Given the description of an element on the screen output the (x, y) to click on. 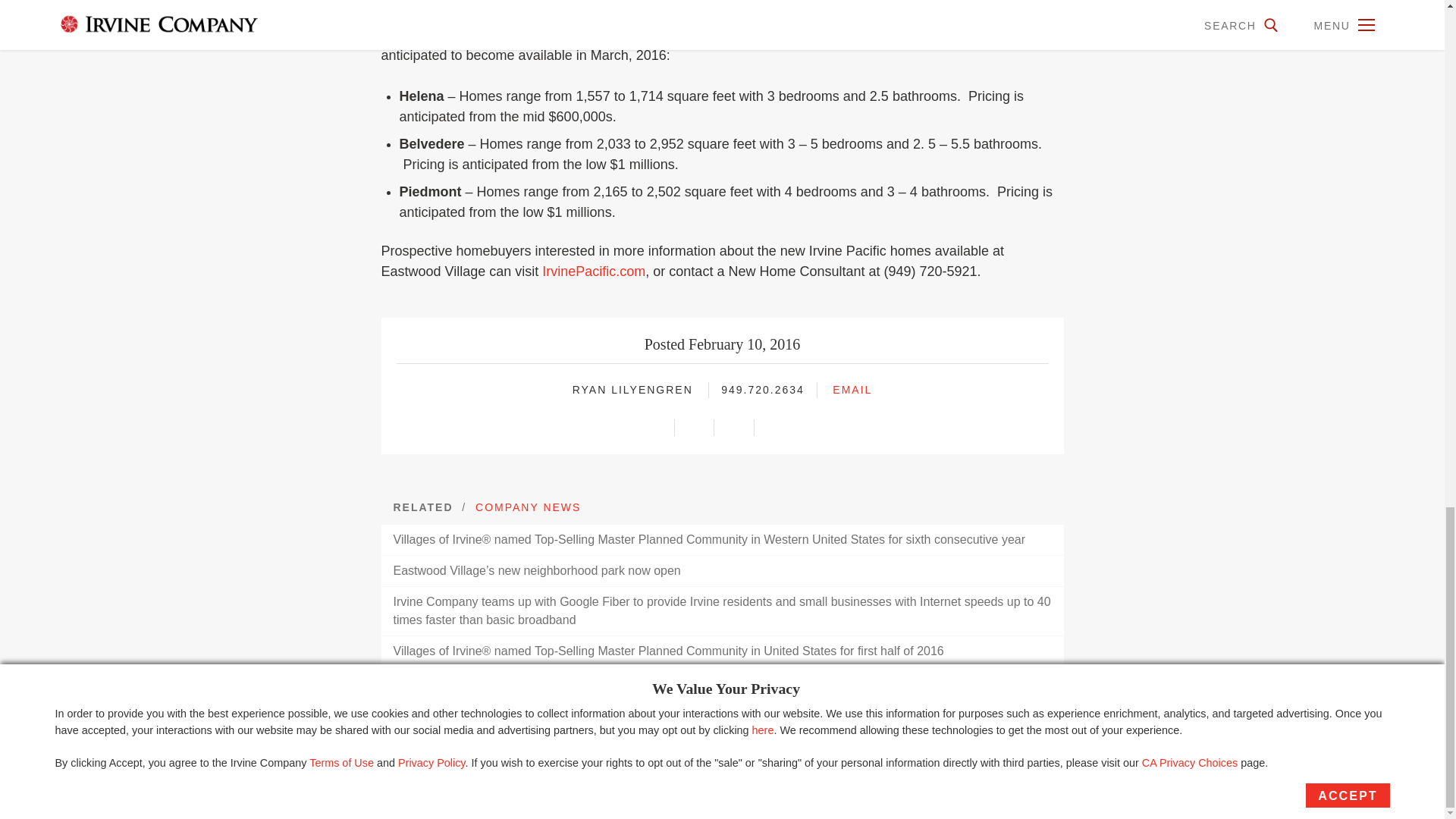
email (654, 427)
Share via Linkedin (738, 427)
Share via Facebook (777, 427)
Share via Twitter (699, 427)
Share via Email (660, 427)
facebook (774, 427)
twitter (694, 427)
linkedin (733, 427)
